Given the description of an element on the screen output the (x, y) to click on. 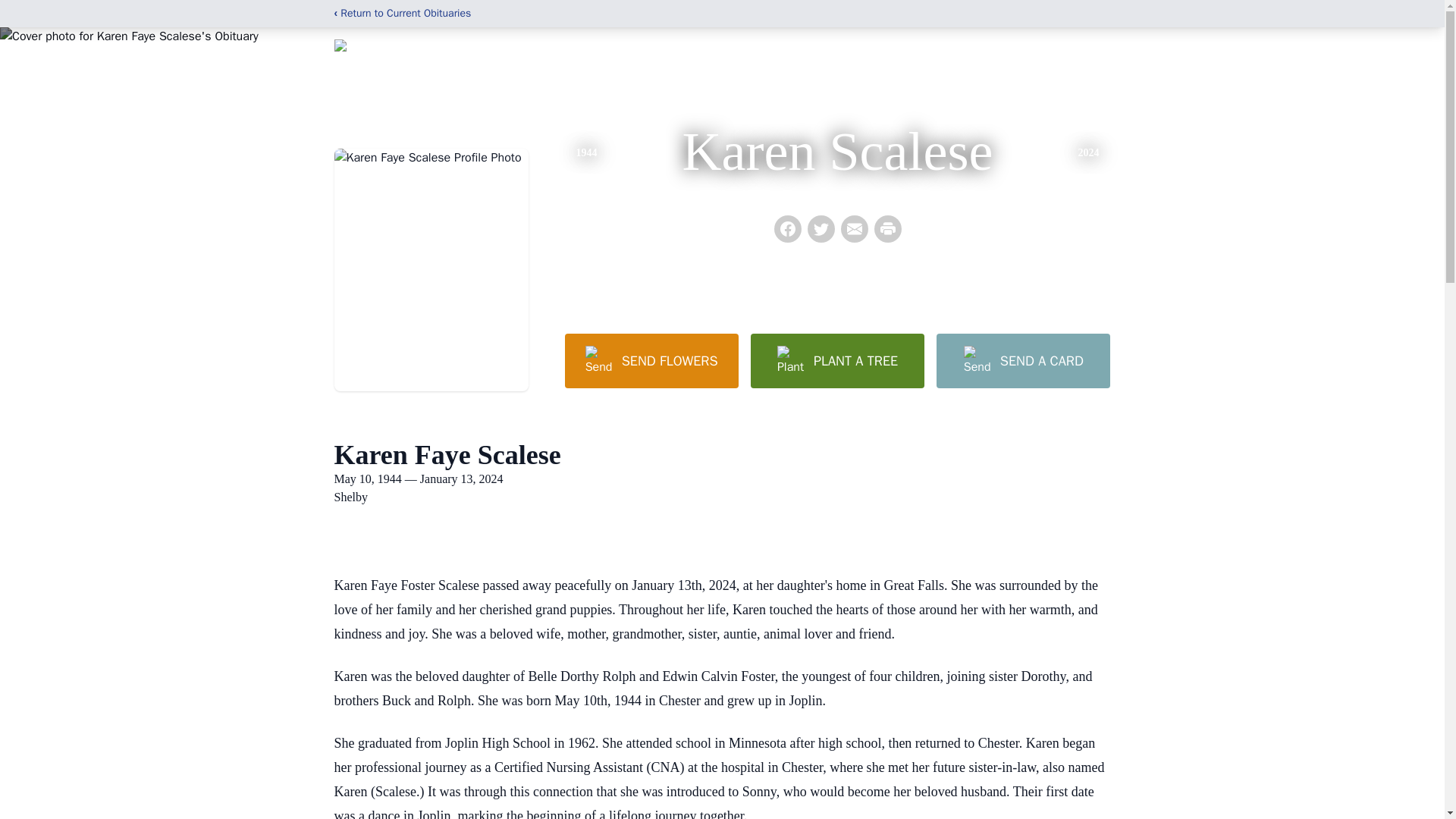
SEND FLOWERS (651, 360)
SEND A CARD (1022, 360)
PLANT A TREE (837, 360)
